Given the description of an element on the screen output the (x, y) to click on. 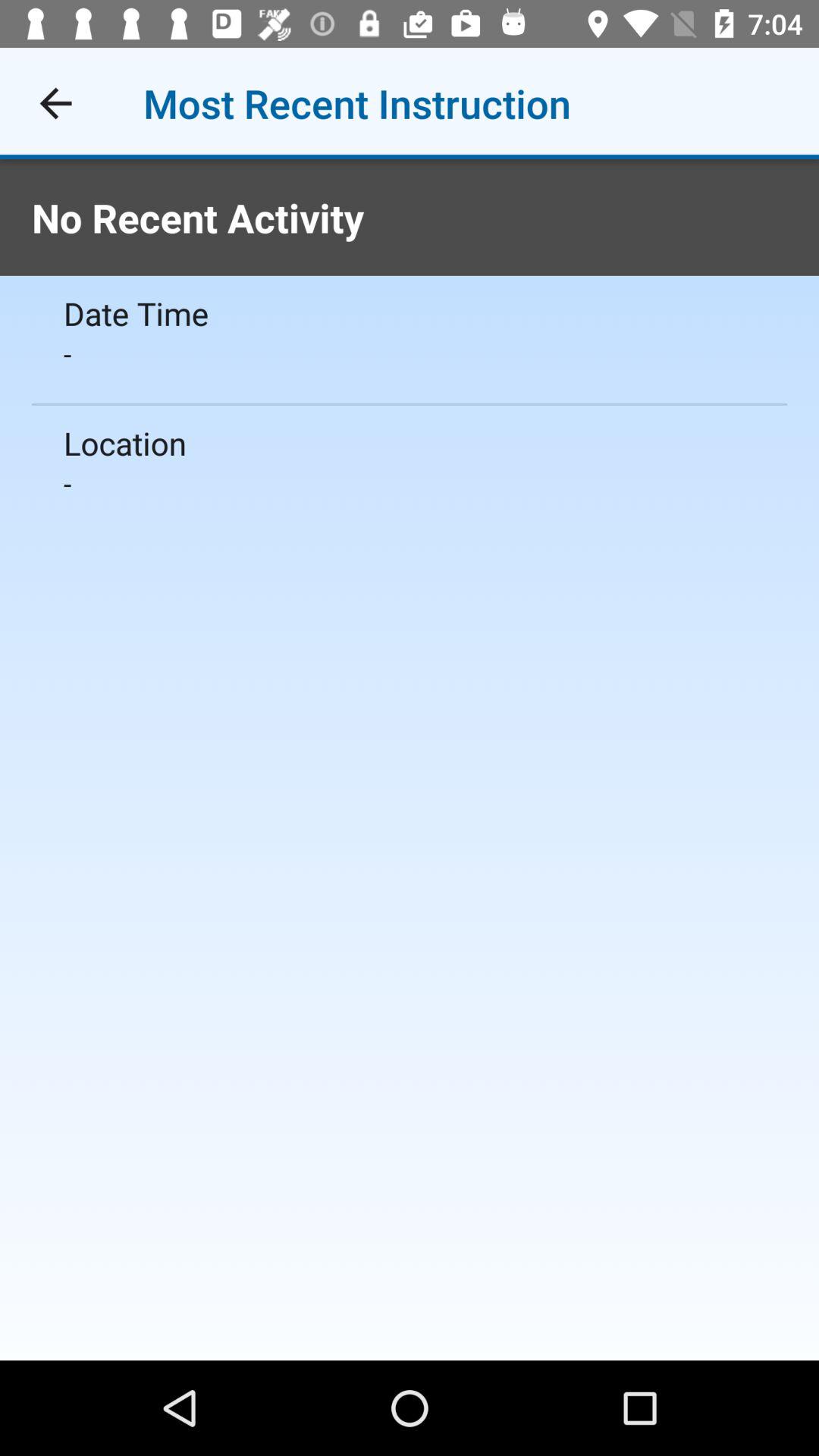
tap item next to most recent instruction item (55, 103)
